Given the description of an element on the screen output the (x, y) to click on. 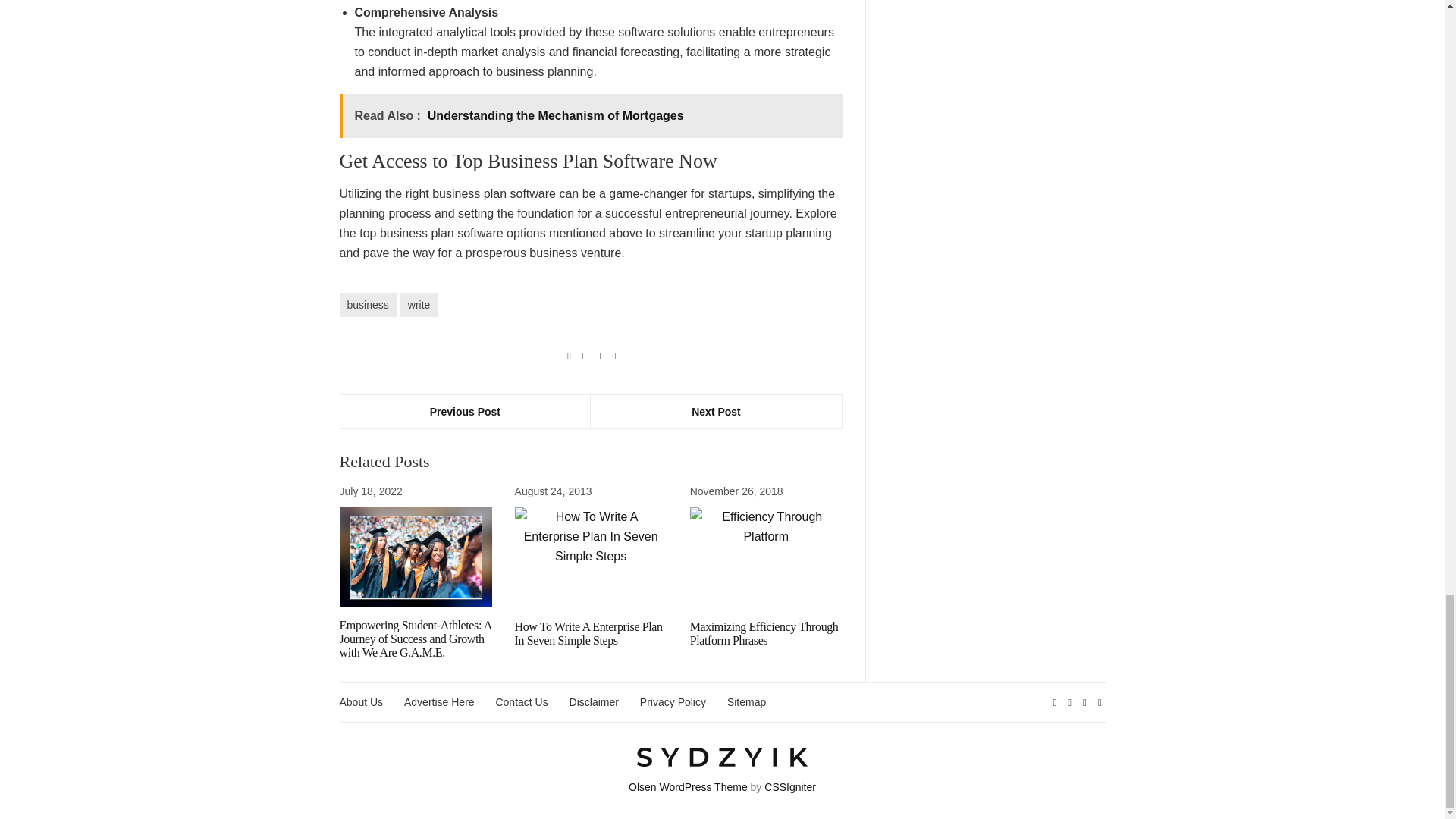
How To Write A Enterprise Plan In Seven Simple Steps (590, 557)
Efficiency Through Platform (766, 557)
business (367, 304)
Previous Post (465, 411)
write (419, 304)
Next Post (716, 411)
Read Also :  Understanding the Mechanism of Mortgages (591, 116)
Blogging theme for WordPress (688, 787)
